Given the description of an element on the screen output the (x, y) to click on. 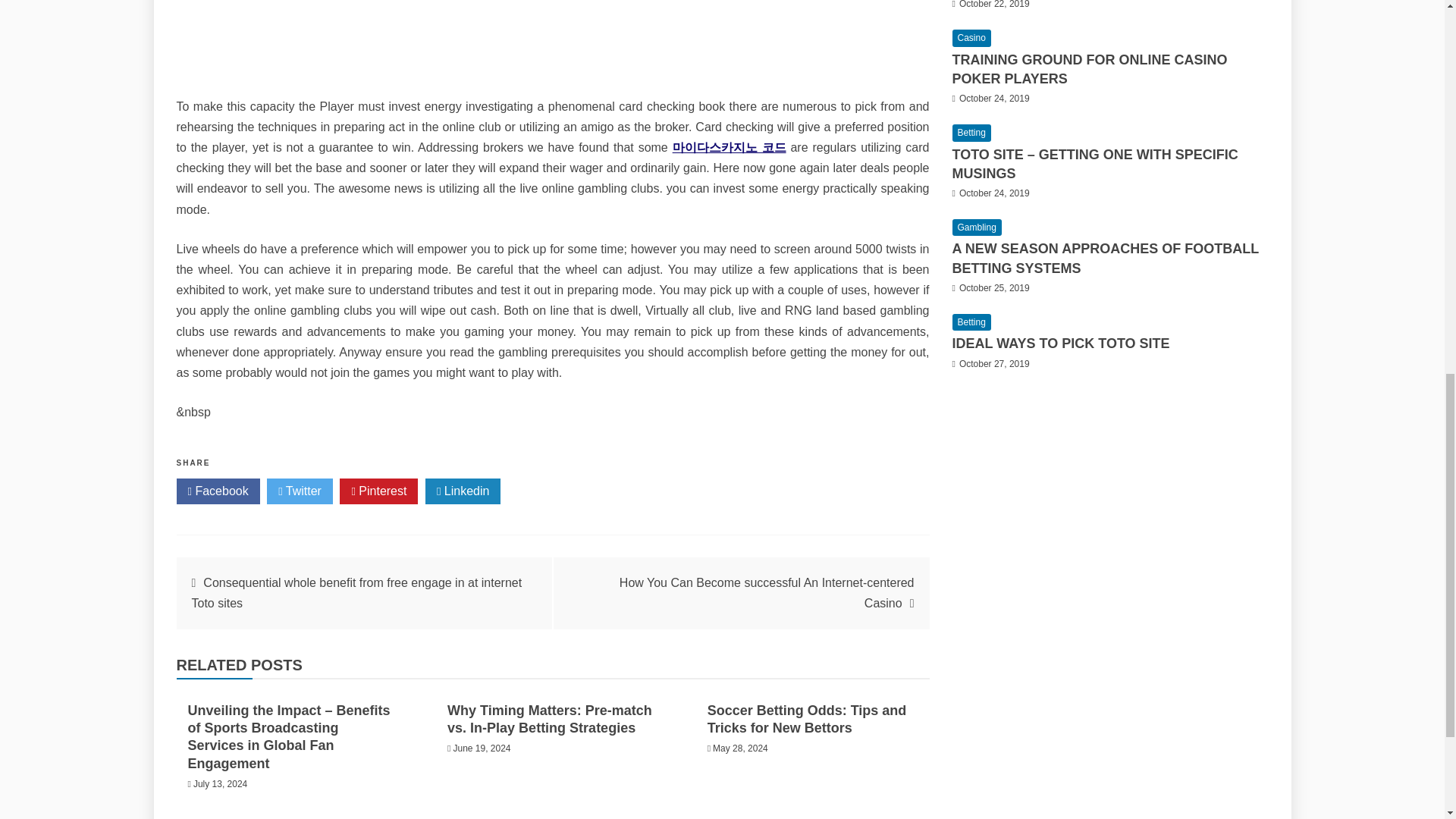
July 13, 2024 (220, 783)
Linkedin (462, 491)
Pinterest (378, 491)
Soccer Betting Odds: Tips and Tricks for New Bettors (807, 718)
How You Can Become successful An Internet-centered Casino (767, 592)
Why Timing Matters: Pre-match vs. In-Play Betting Strategies (549, 718)
June 19, 2024 (481, 747)
Facebook (217, 491)
Twitter (299, 491)
